Given the description of an element on the screen output the (x, y) to click on. 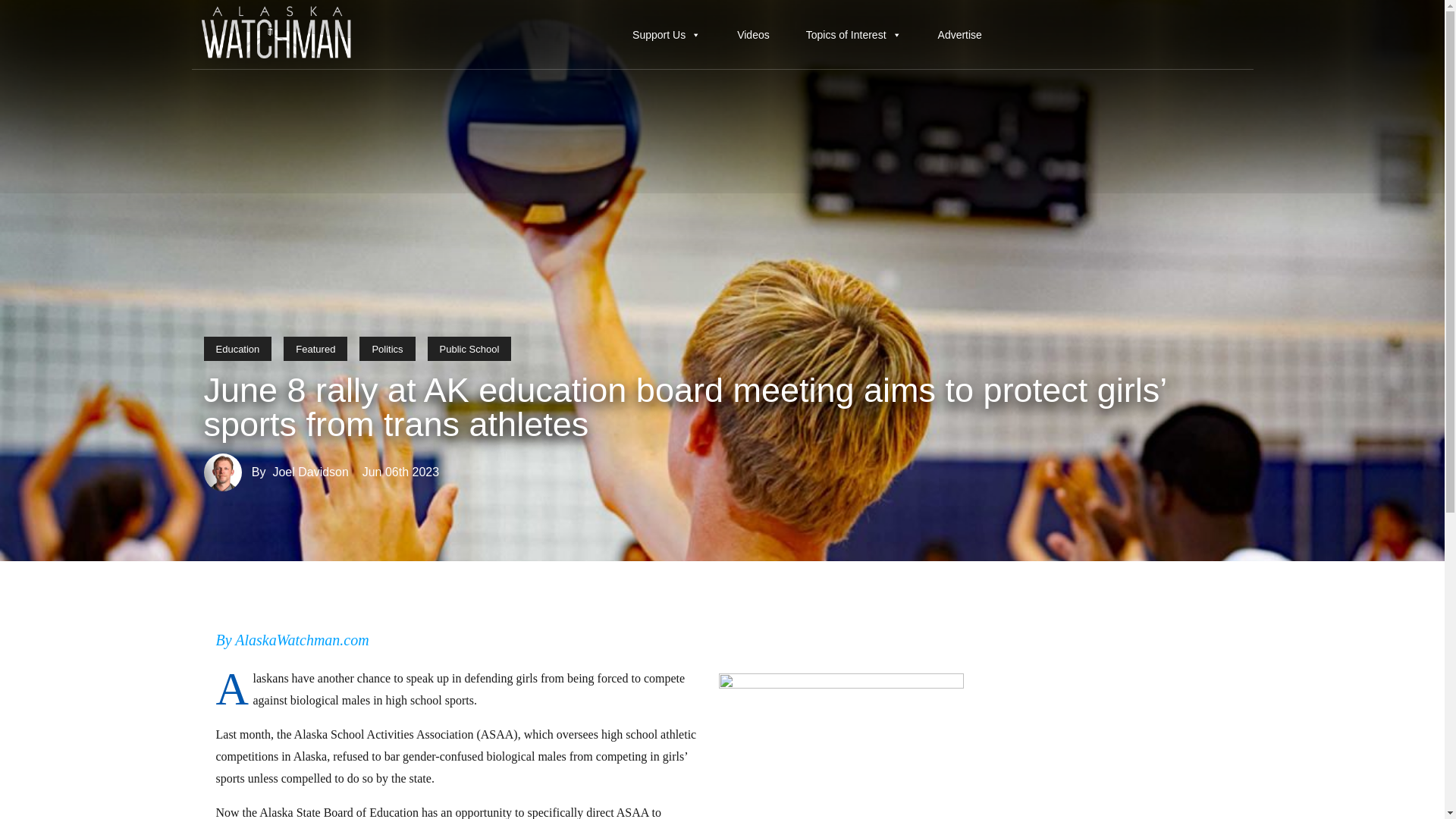
Topics of Interest (852, 34)
Advertise (960, 34)
Support Us (665, 34)
Videos (753, 34)
